Given the description of an element on the screen output the (x, y) to click on. 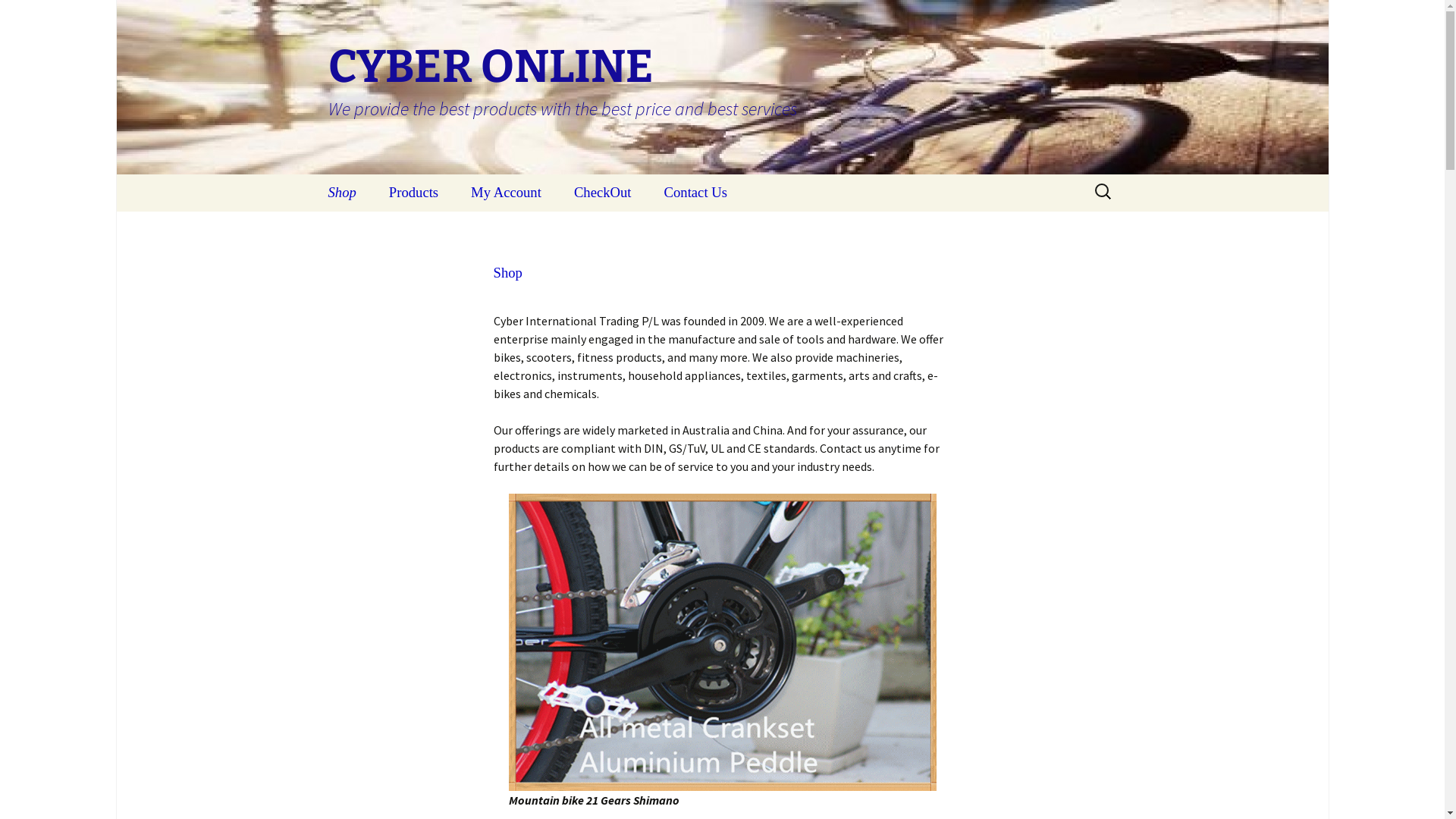
Search for: Element type: hover (1103, 191)
Skip to content Element type: text (352, 183)
Shop Element type: text (341, 192)
Search Element type: text (18, 16)
CheckOut Element type: text (602, 192)
Products Element type: text (413, 192)
Contact Us Element type: text (695, 192)
My Account Element type: text (505, 192)
